Given the description of an element on the screen output the (x, y) to click on. 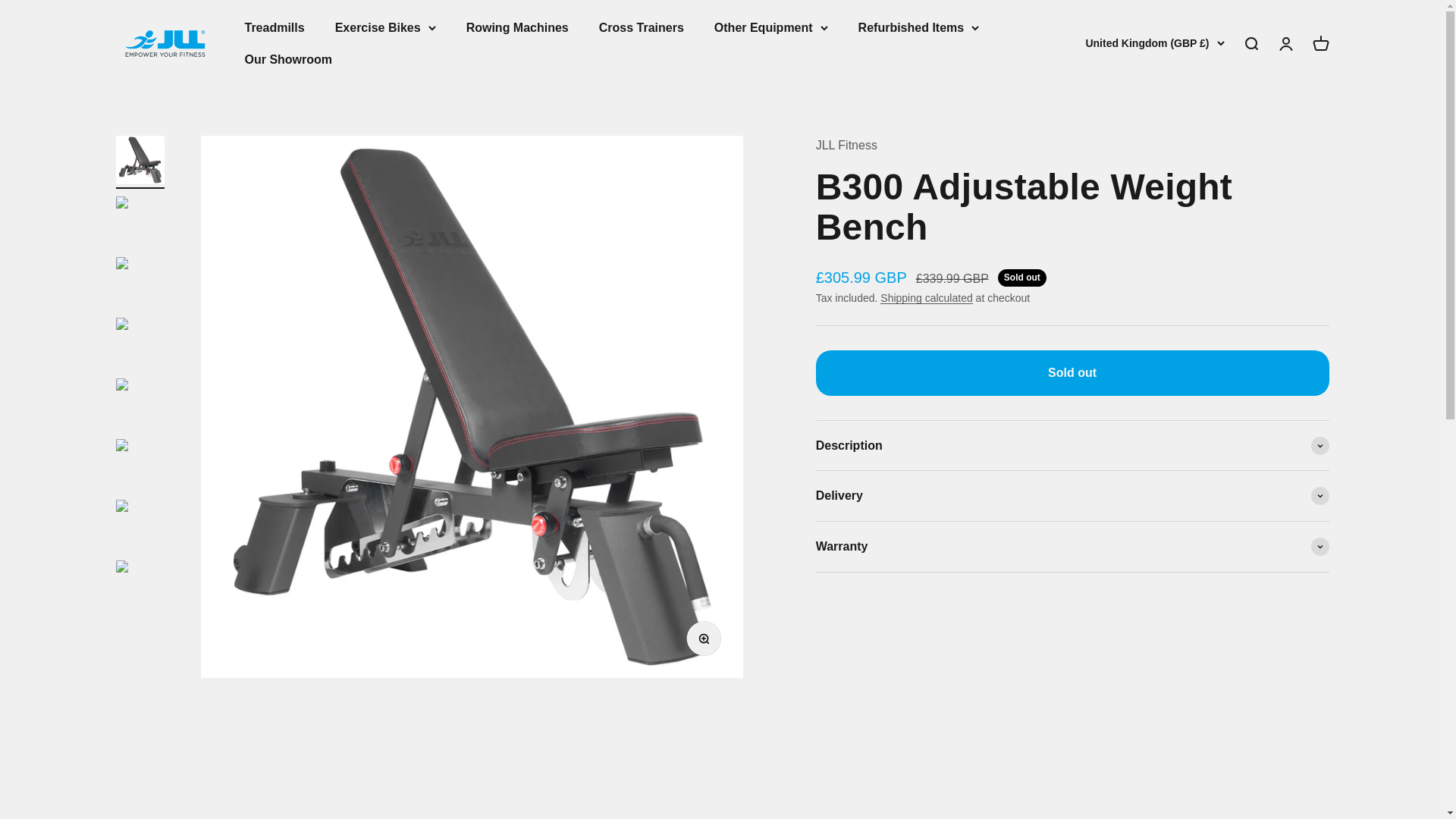
Our Showroom (1319, 44)
Treadmills (287, 59)
JLL Fitness (274, 27)
Open search (164, 43)
Cross Trainers (1250, 44)
Open account page (641, 27)
Rowing Machines (1285, 44)
